Given the description of an element on the screen output the (x, y) to click on. 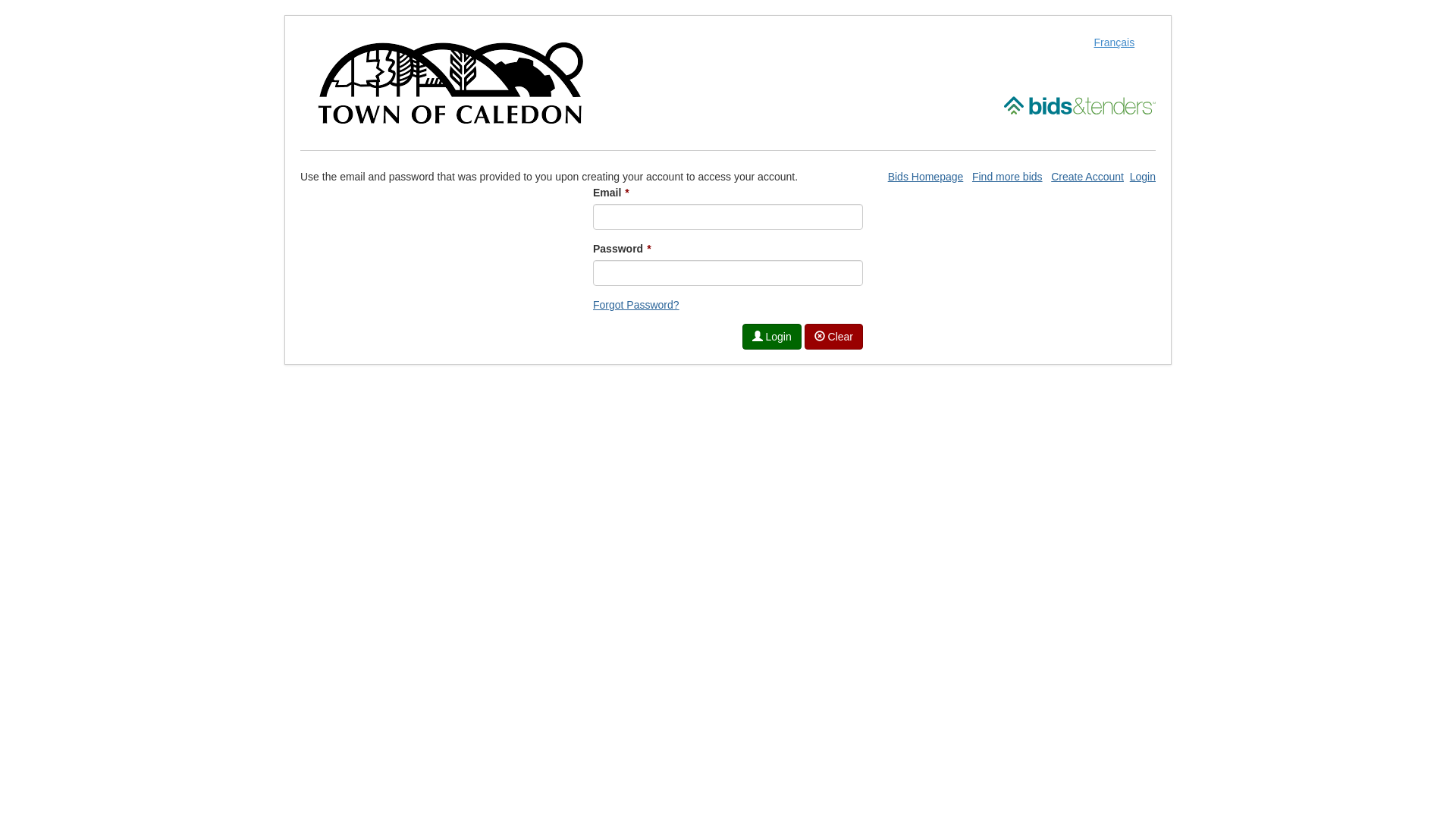
 Clear Element type: text (833, 336)
Login Element type: text (1142, 176)
 Login Element type: text (771, 336)
Open Town of Caledon site in a new window Element type: hover (450, 81)
Forgot Password? Element type: text (636, 304)
Bids Homepage Element type: text (925, 176)
Open Bids and Tenders site in a new window Element type: hover (1079, 104)
Skip to Content (Press Enter) Element type: text (0, 0)
Find more bids Element type: text (1007, 176)
Create Account Element type: text (1087, 176)
